Given the description of an element on the screen output the (x, y) to click on. 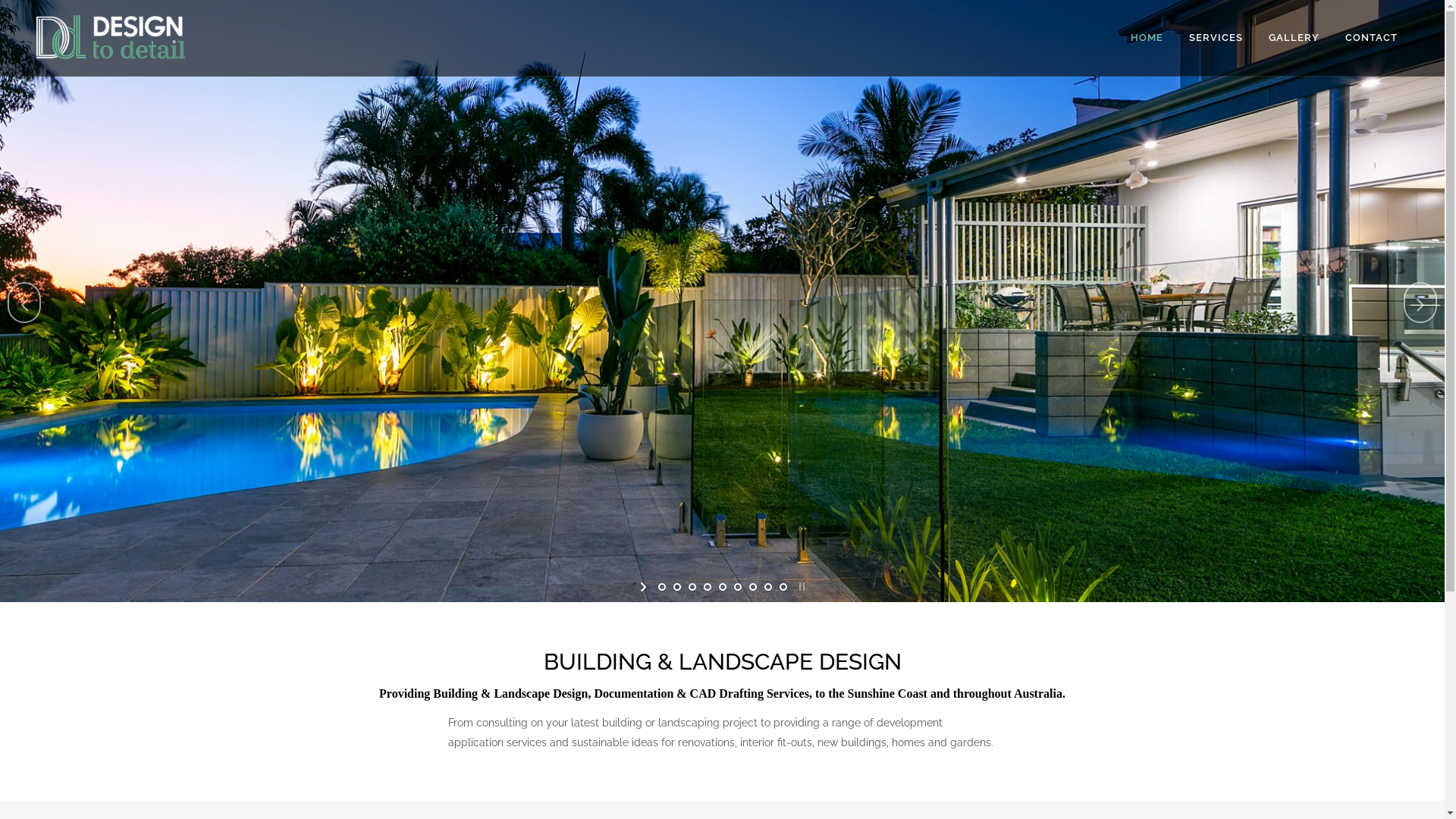
CONTACT Element type: text (1371, 37)
SERVICES Element type: text (1215, 37)
GALLERY Element type: text (1293, 37)
HOME Element type: text (1146, 37)
